Given the description of an element on the screen output the (x, y) to click on. 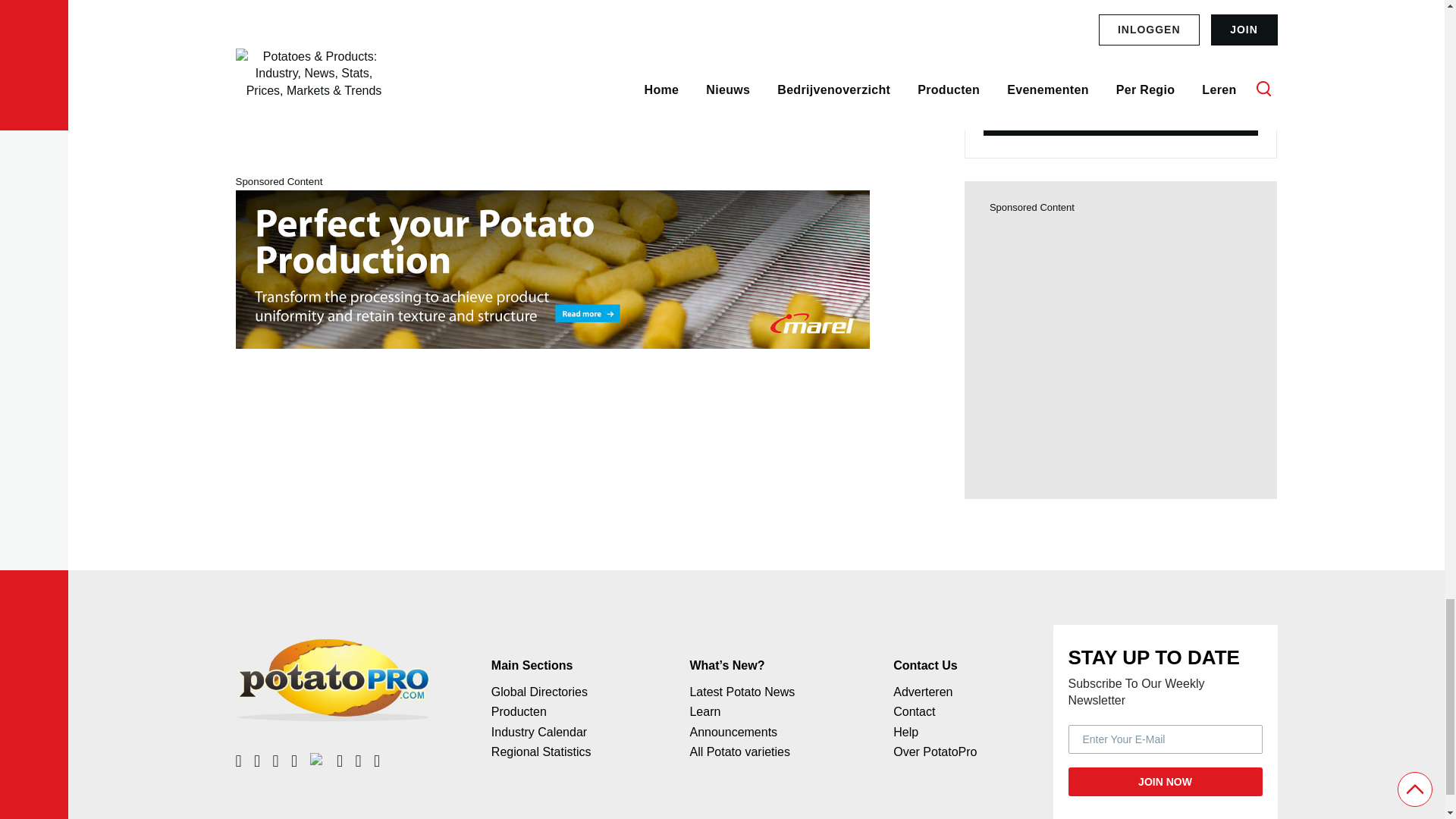
JOIN NOW (1164, 781)
